Given the description of an element on the screen output the (x, y) to click on. 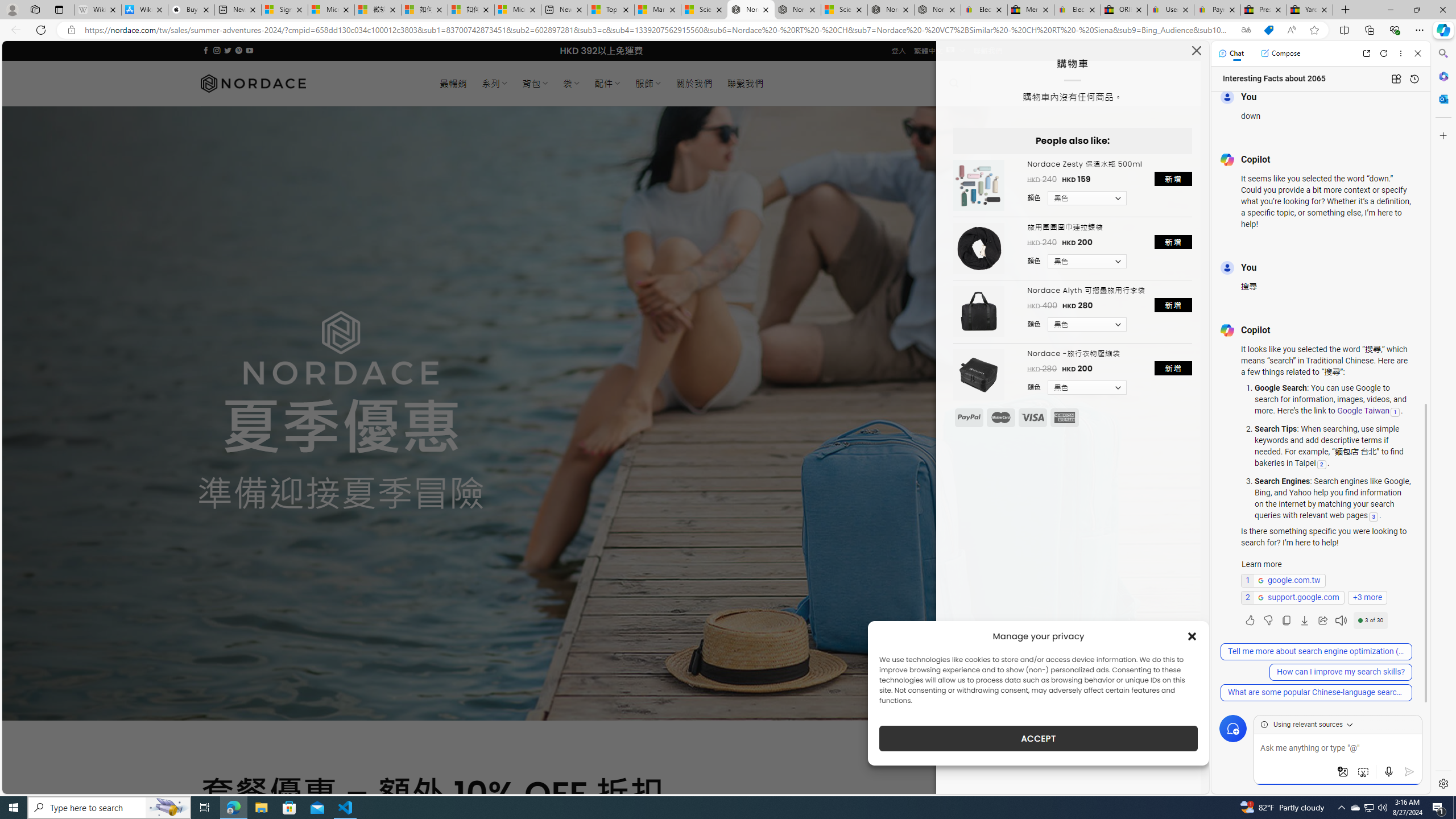
Follow on Pinterest (237, 50)
Class: feather feather-x (1196, 50)
Follow on Twitter (227, 50)
